Given the description of an element on the screen output the (x, y) to click on. 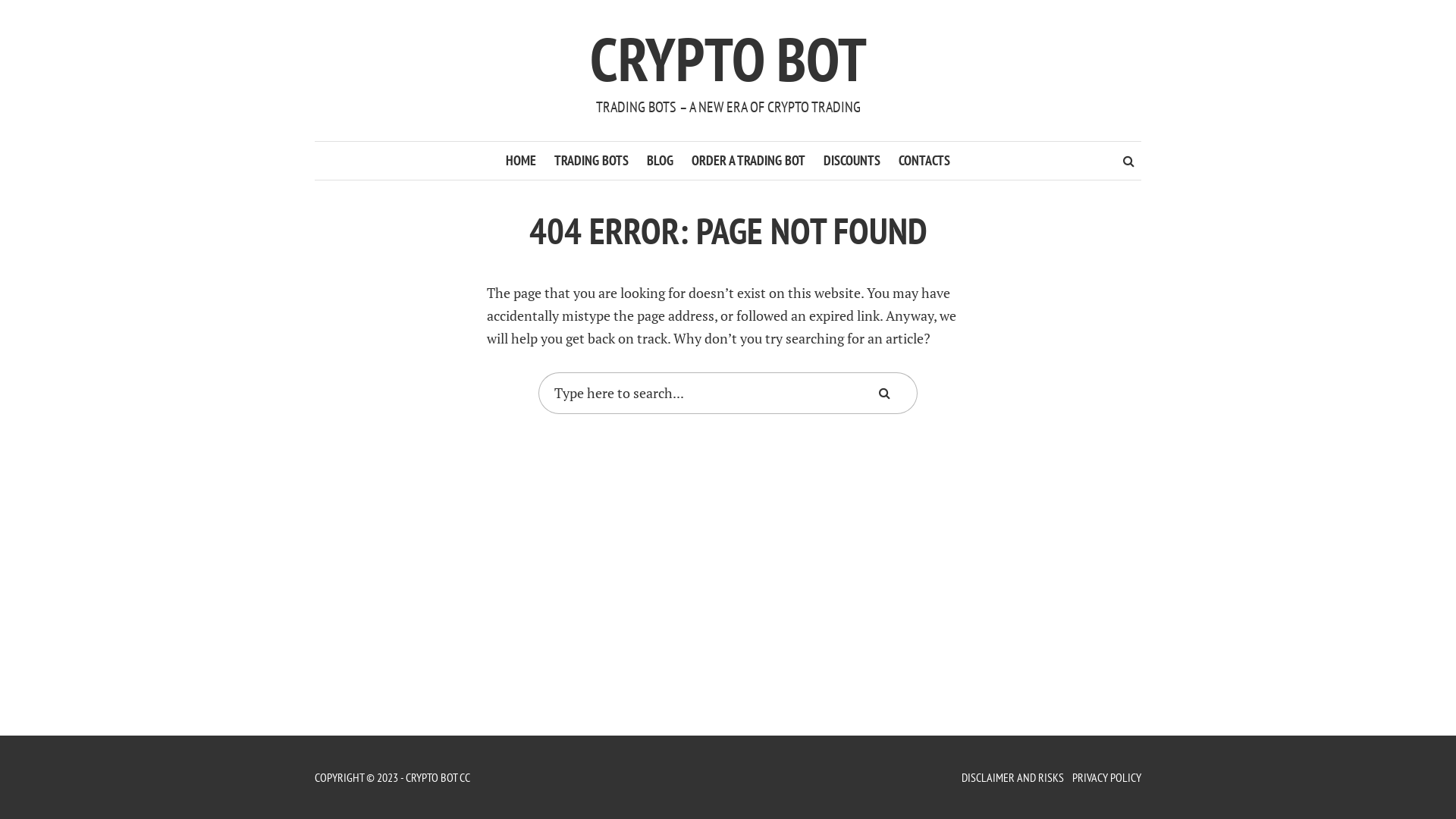
BLOG Element type: text (659, 160)
DISCOUNTS Element type: text (851, 160)
CRYPTO BOT Element type: text (727, 58)
ORDER A TRADING BOT Element type: text (748, 160)
HOME Element type: text (520, 160)
PRIVACY POLICY Element type: text (1106, 776)
TRADING BOTS Element type: text (591, 160)
DISCLAIMER AND RISKS Element type: text (1012, 776)
CONTACTS Element type: text (924, 160)
